Given the description of an element on the screen output the (x, y) to click on. 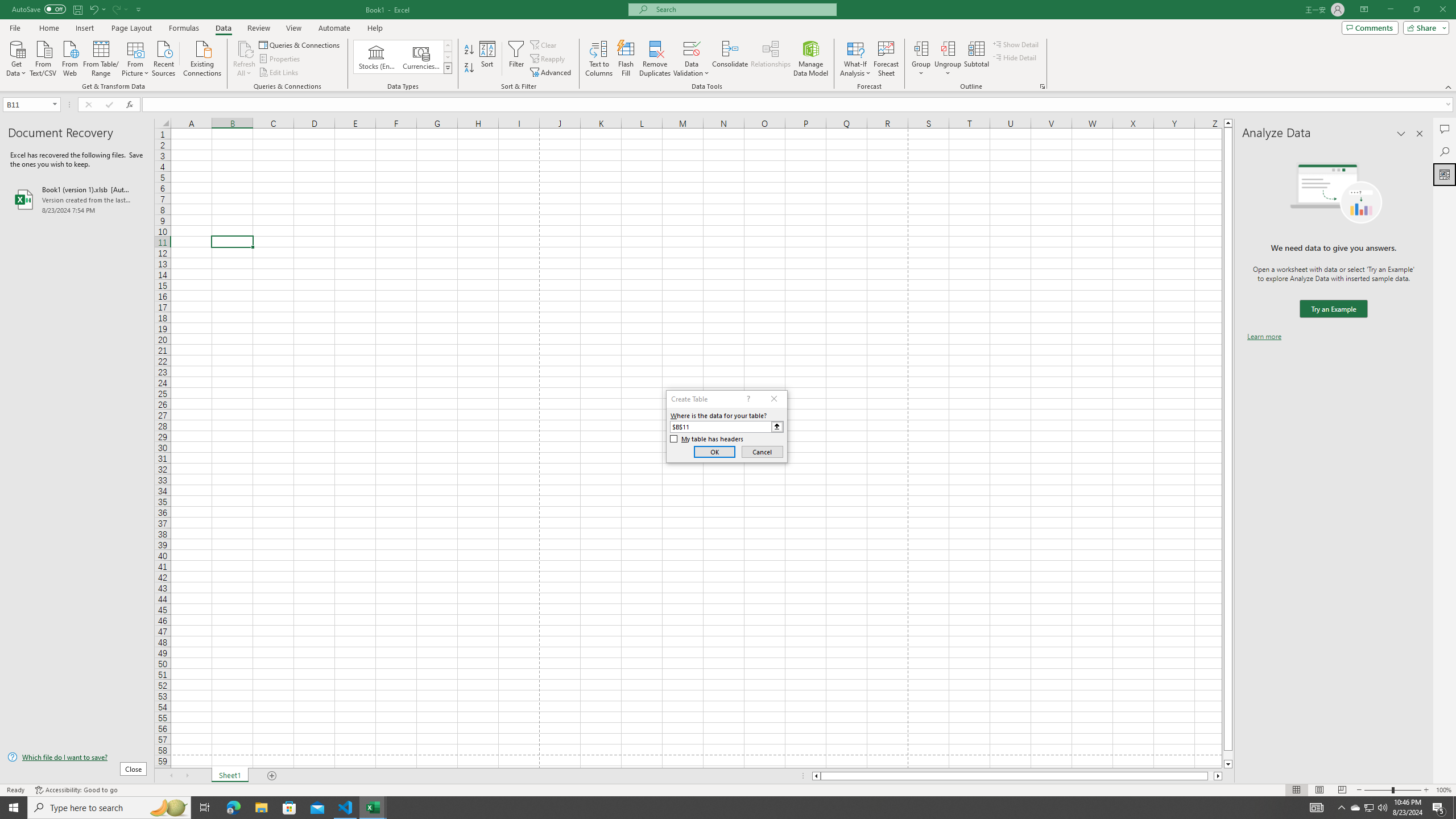
Quick Access Toolbar (77, 9)
Help (374, 28)
Name Box (30, 104)
Analyze Data (1444, 173)
Ungroup... (947, 48)
Page Break Preview (1342, 790)
Formula Bar (799, 104)
We need data to give you answers. Try an Example (1333, 308)
Comments (1444, 128)
Refresh All (244, 58)
Page down (1228, 755)
Column right (1218, 775)
From Picture (135, 57)
Data Validation... (691, 48)
From Text/CSV (43, 57)
